Given the description of an element on the screen output the (x, y) to click on. 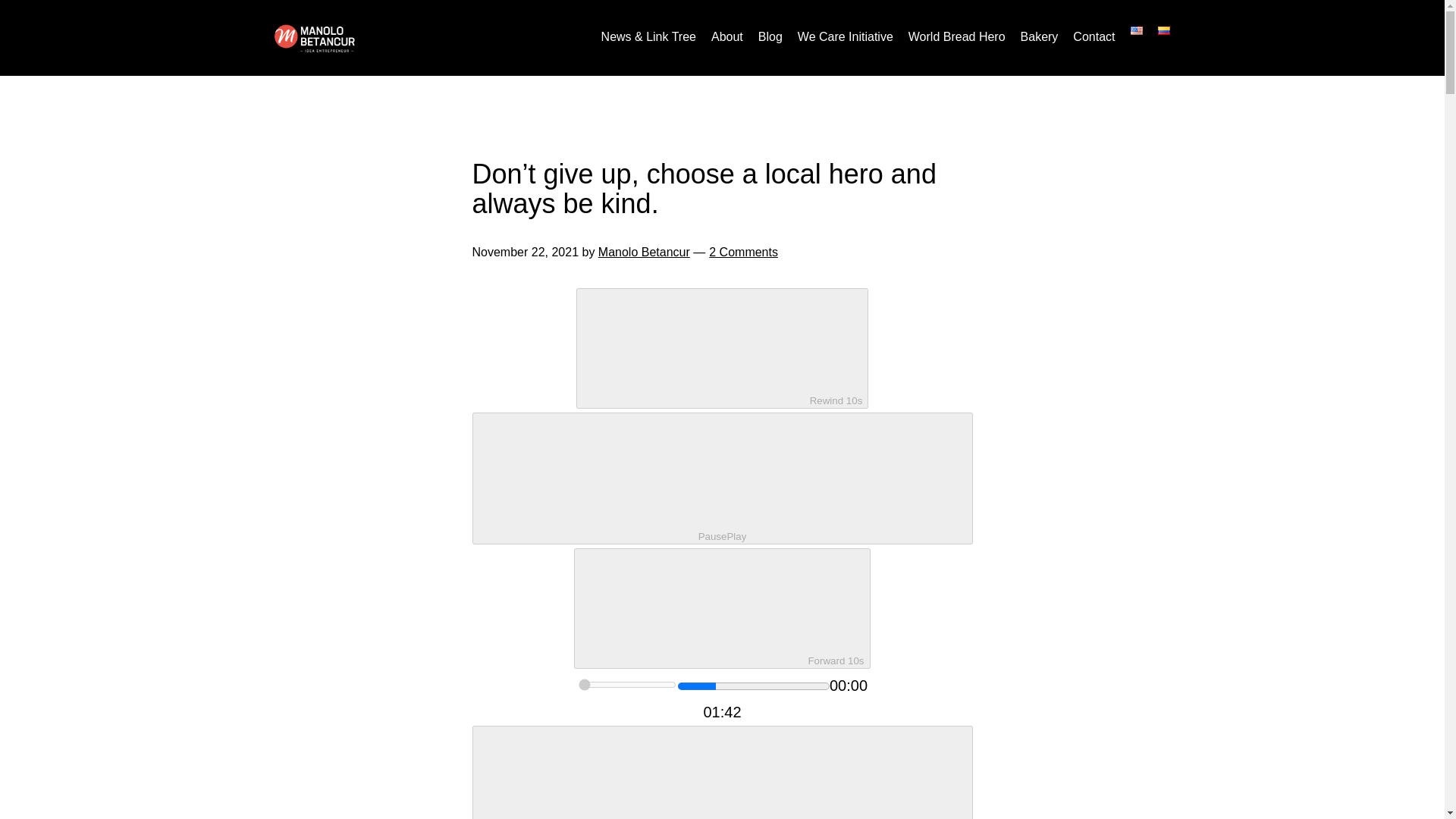
We Care Initiative (845, 36)
Manolo Betancur (644, 251)
Contact (1093, 36)
Blog (770, 36)
2 Comments (743, 251)
World Bread Hero (957, 36)
About (727, 36)
Bakery (1039, 36)
